Given the description of an element on the screen output the (x, y) to click on. 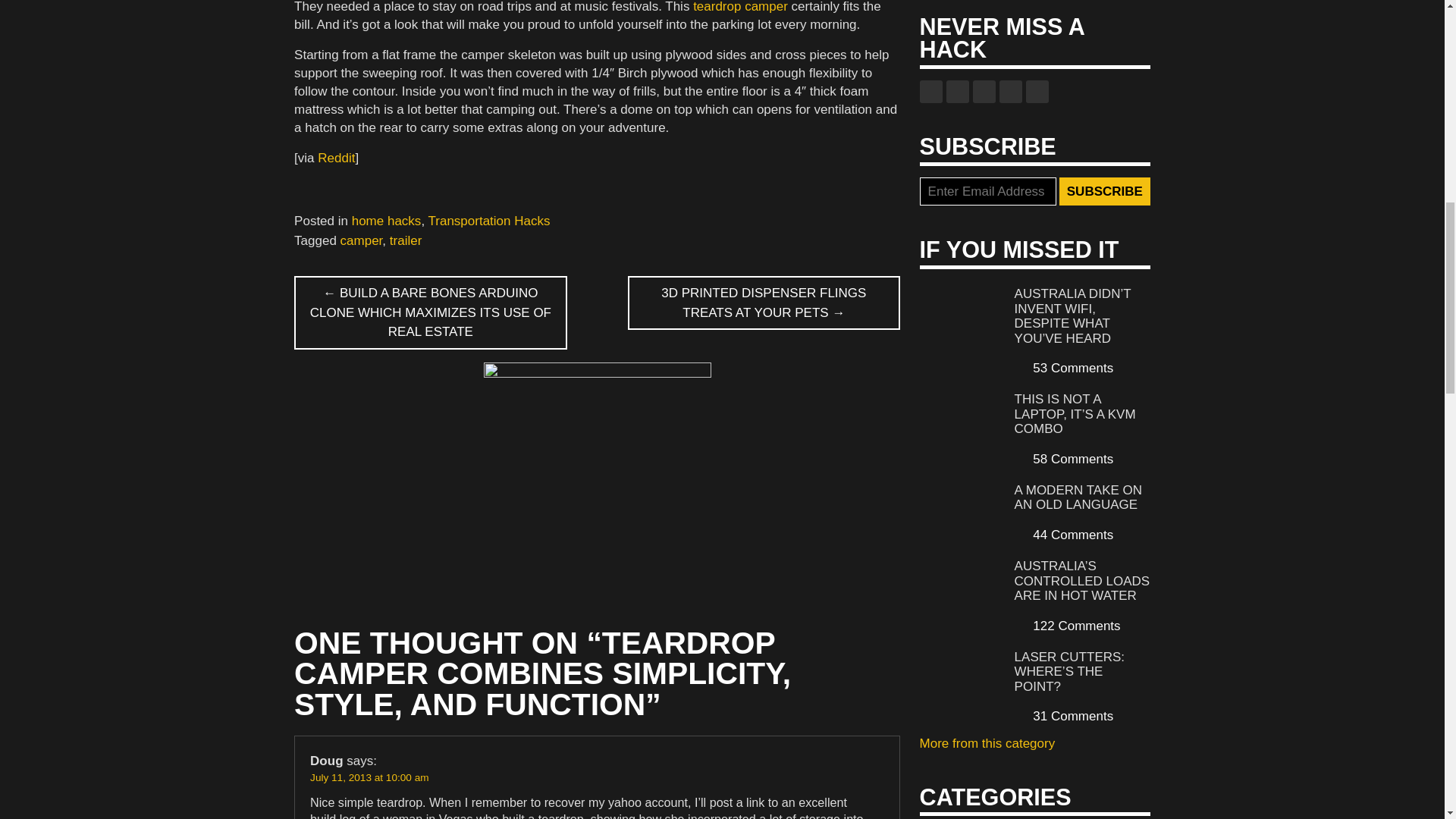
Transportation Hacks (489, 220)
trailer (406, 240)
July 11, 2013 at 10:00 am (369, 777)
Subscribe (1104, 191)
teardrop camper (740, 6)
camper (361, 240)
Reddit (336, 157)
home hacks (387, 220)
